Given the description of an element on the screen output the (x, y) to click on. 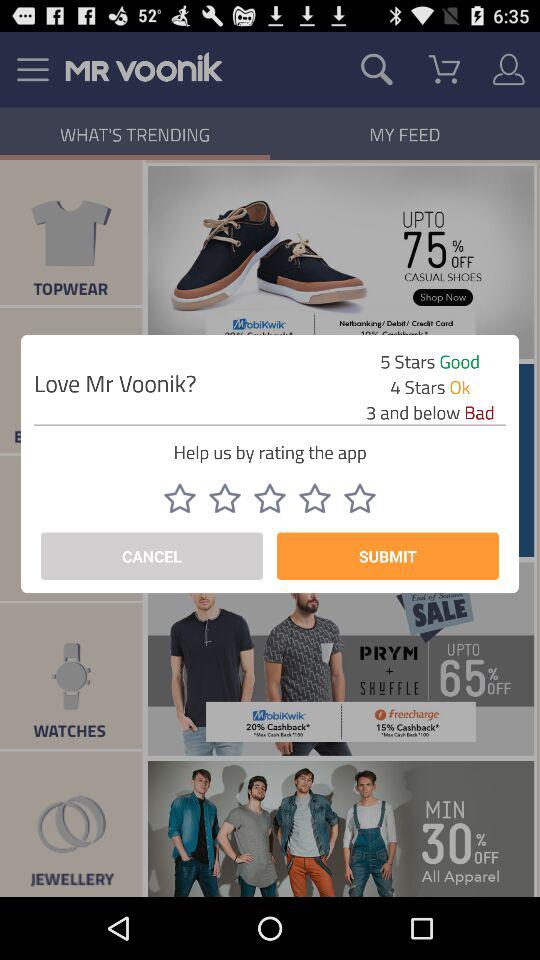
press the item below the help us by icon (314, 498)
